Given the description of an element on the screen output the (x, y) to click on. 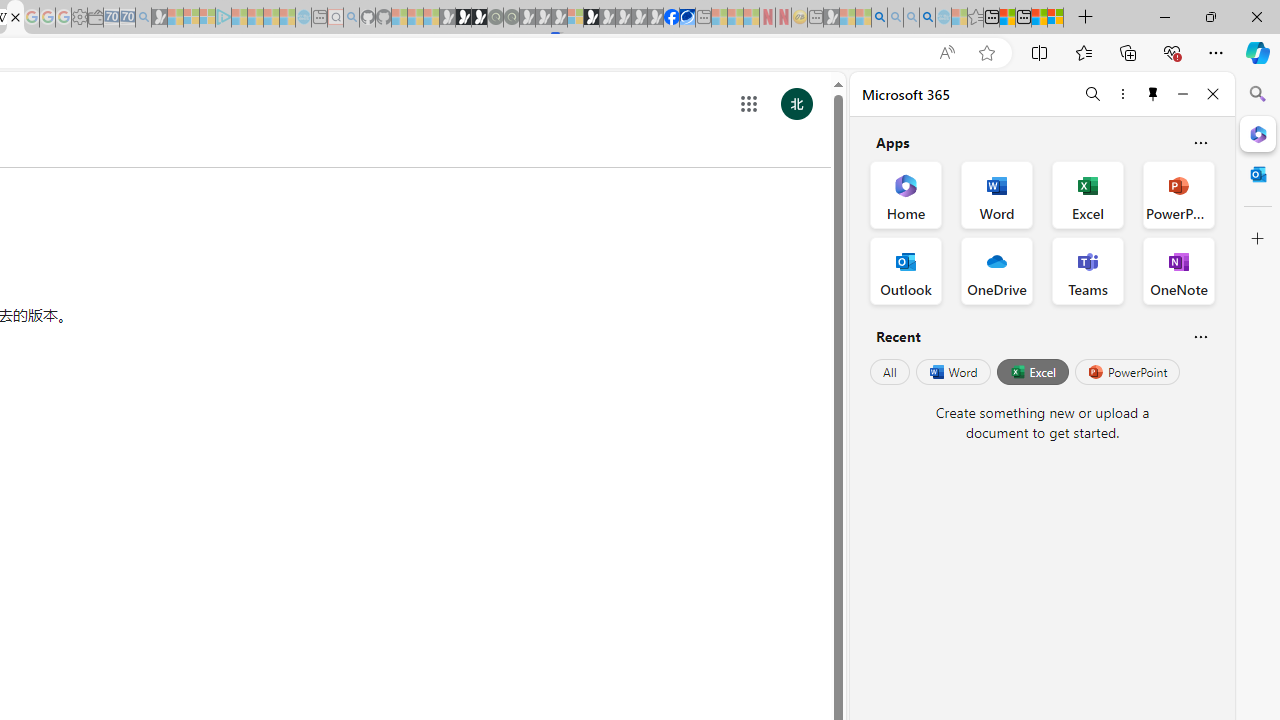
Sign in to your account - Sleeping (575, 17)
Is this helpful? (1200, 336)
Word (952, 372)
Class: gb_E (749, 103)
Bing AI - Search (879, 17)
OneDrive Office App (996, 270)
Teams Office App (1087, 270)
